Given the description of an element on the screen output the (x, y) to click on. 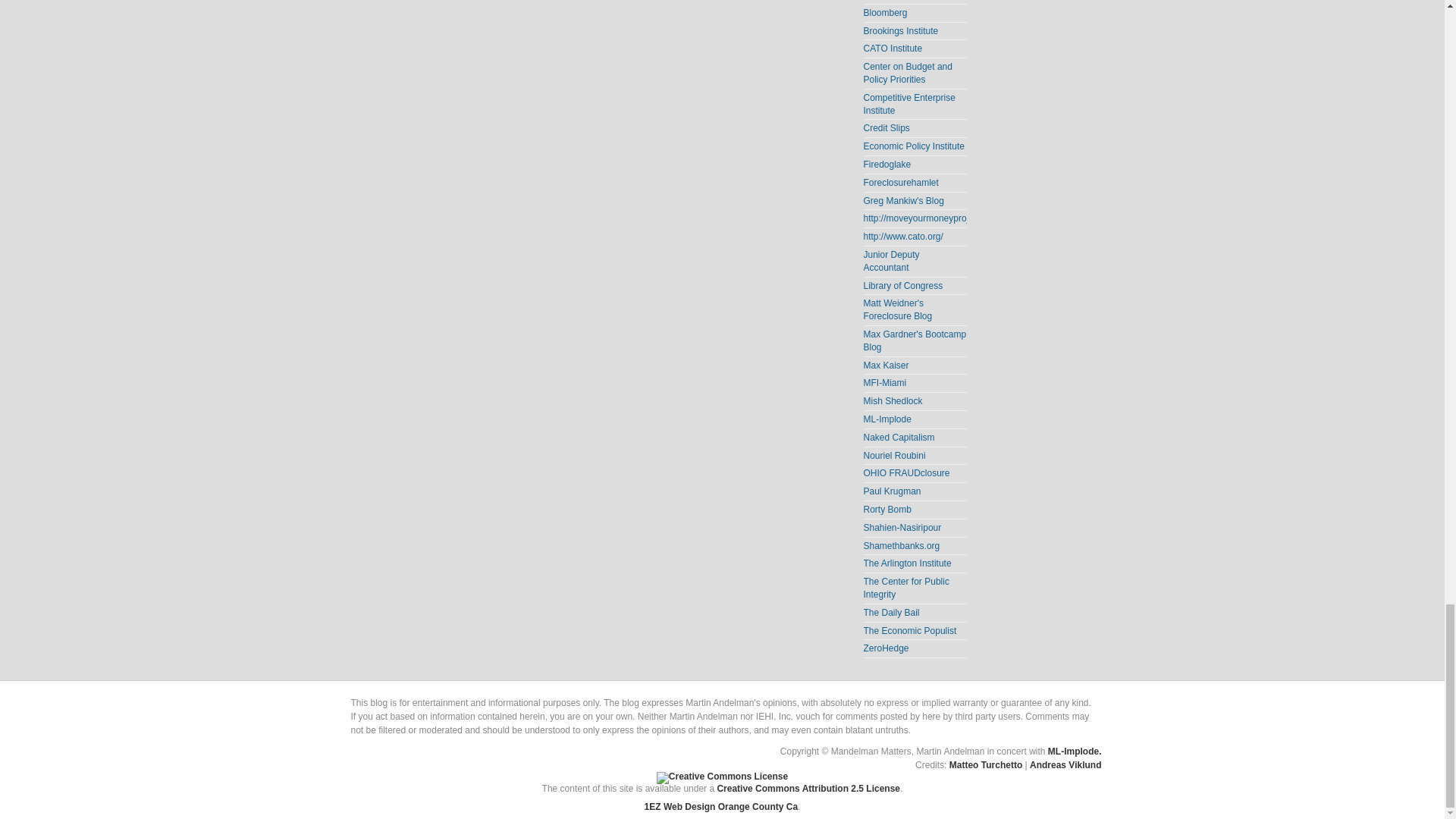
ML-Implode (887, 419)
Inspired by Andreas 08 Template (1064, 765)
Realized By (985, 765)
OHIO FRAUDclosure (906, 472)
